Given the description of an element on the screen output the (x, y) to click on. 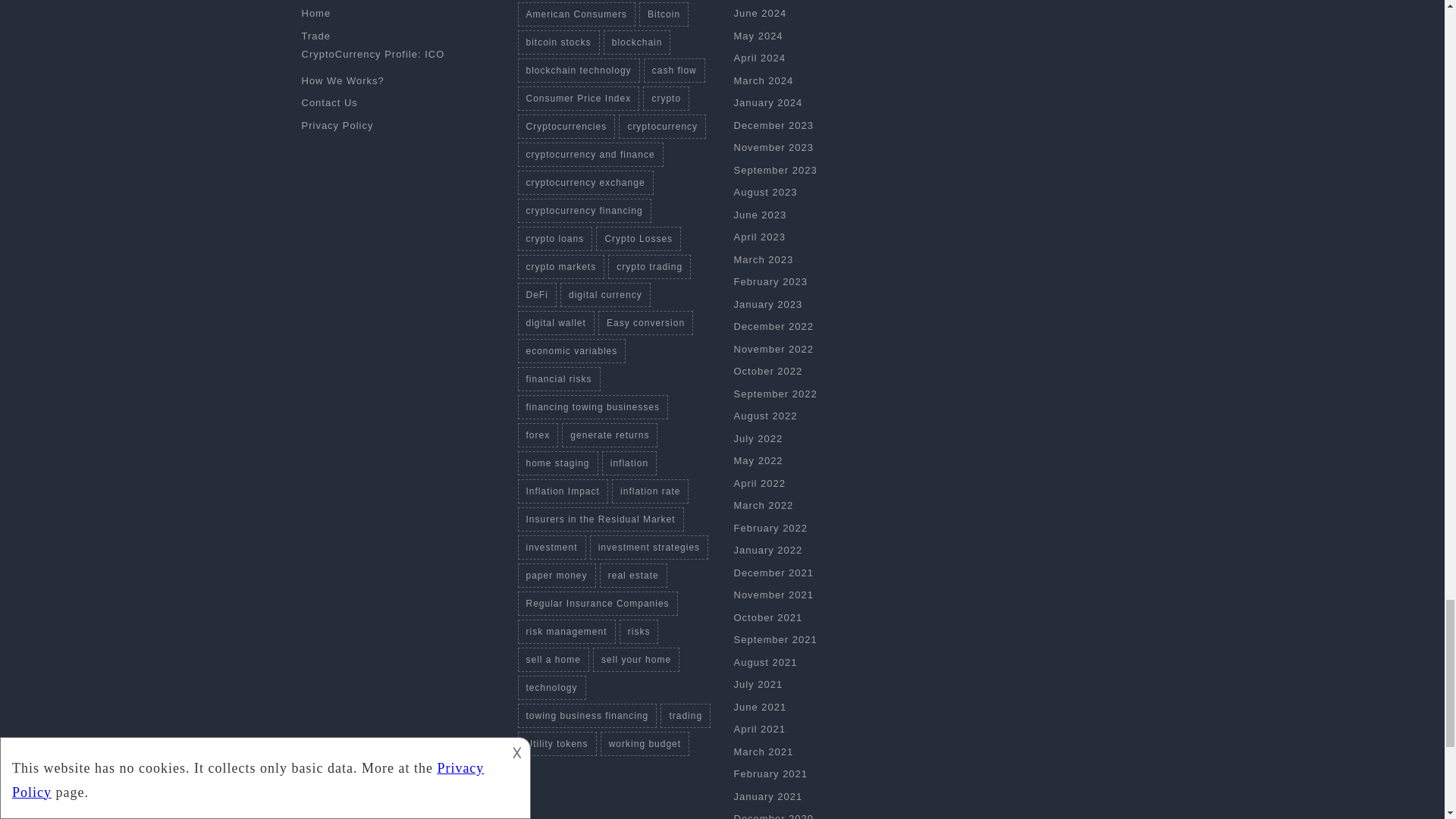
Trade (315, 35)
Home (316, 12)
